Given the description of an element on the screen output the (x, y) to click on. 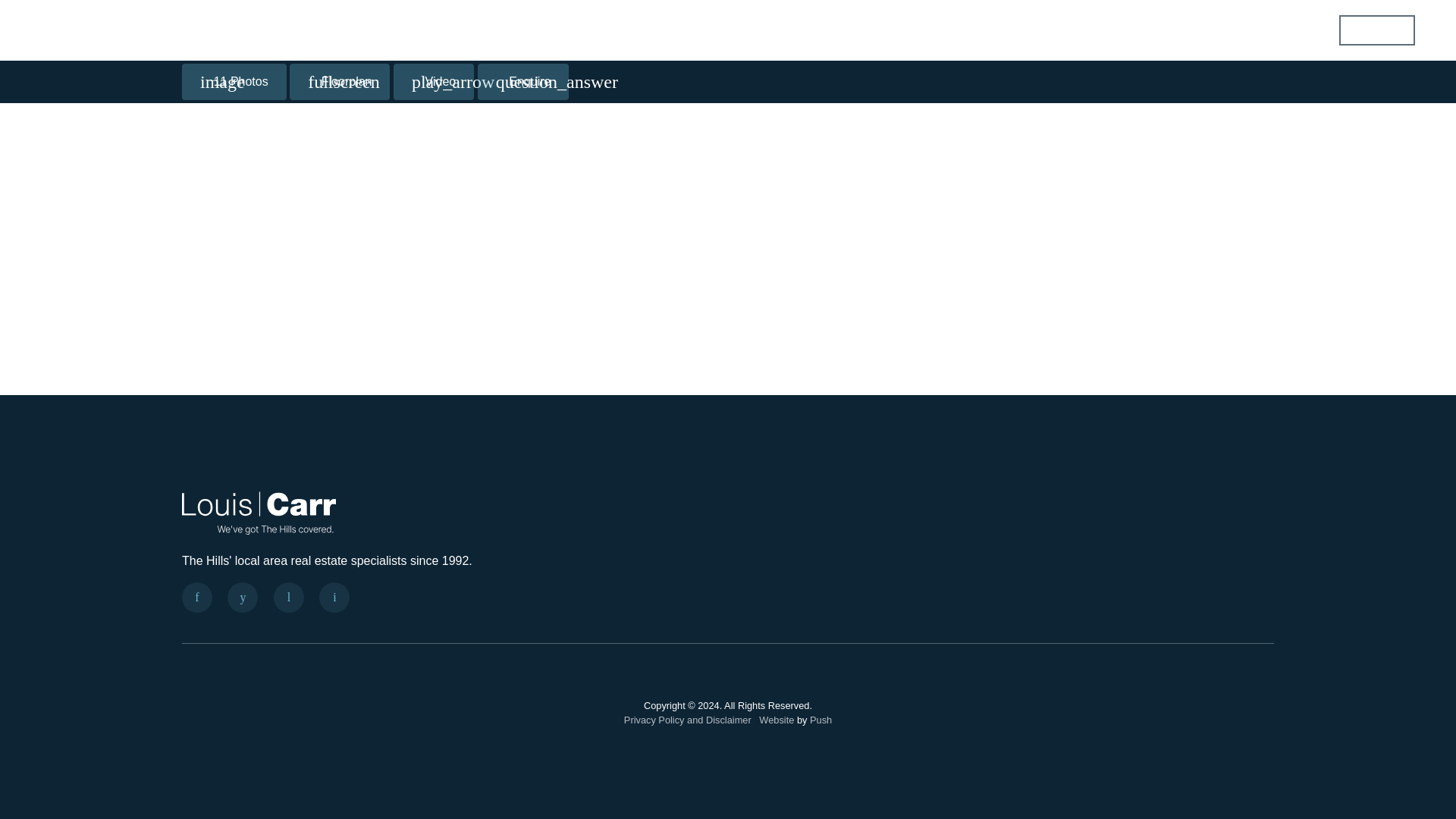
Louis Carr - We've got The Hills covered. (259, 510)
